Given the description of an element on the screen output the (x, y) to click on. 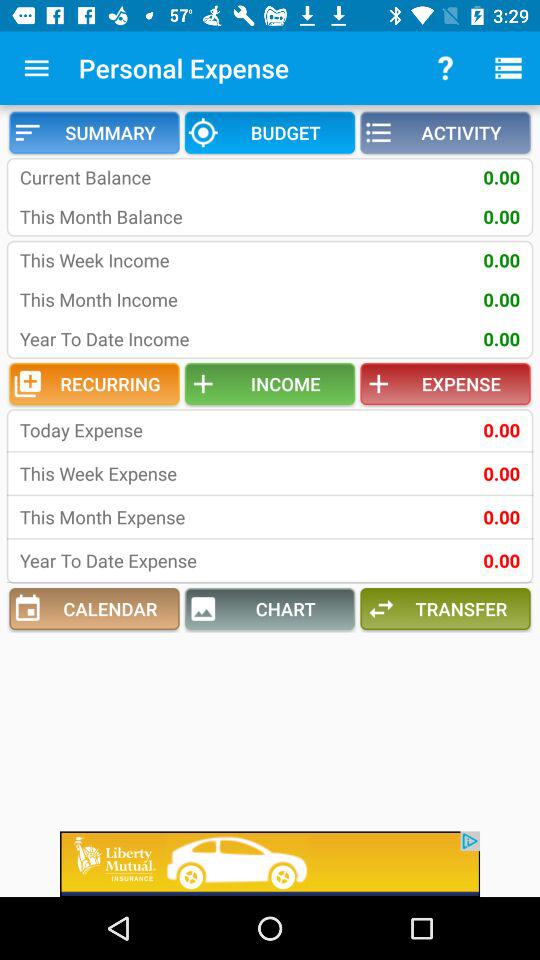
launch icon to the right of summary icon (269, 132)
